Given the description of an element on the screen output the (x, y) to click on. 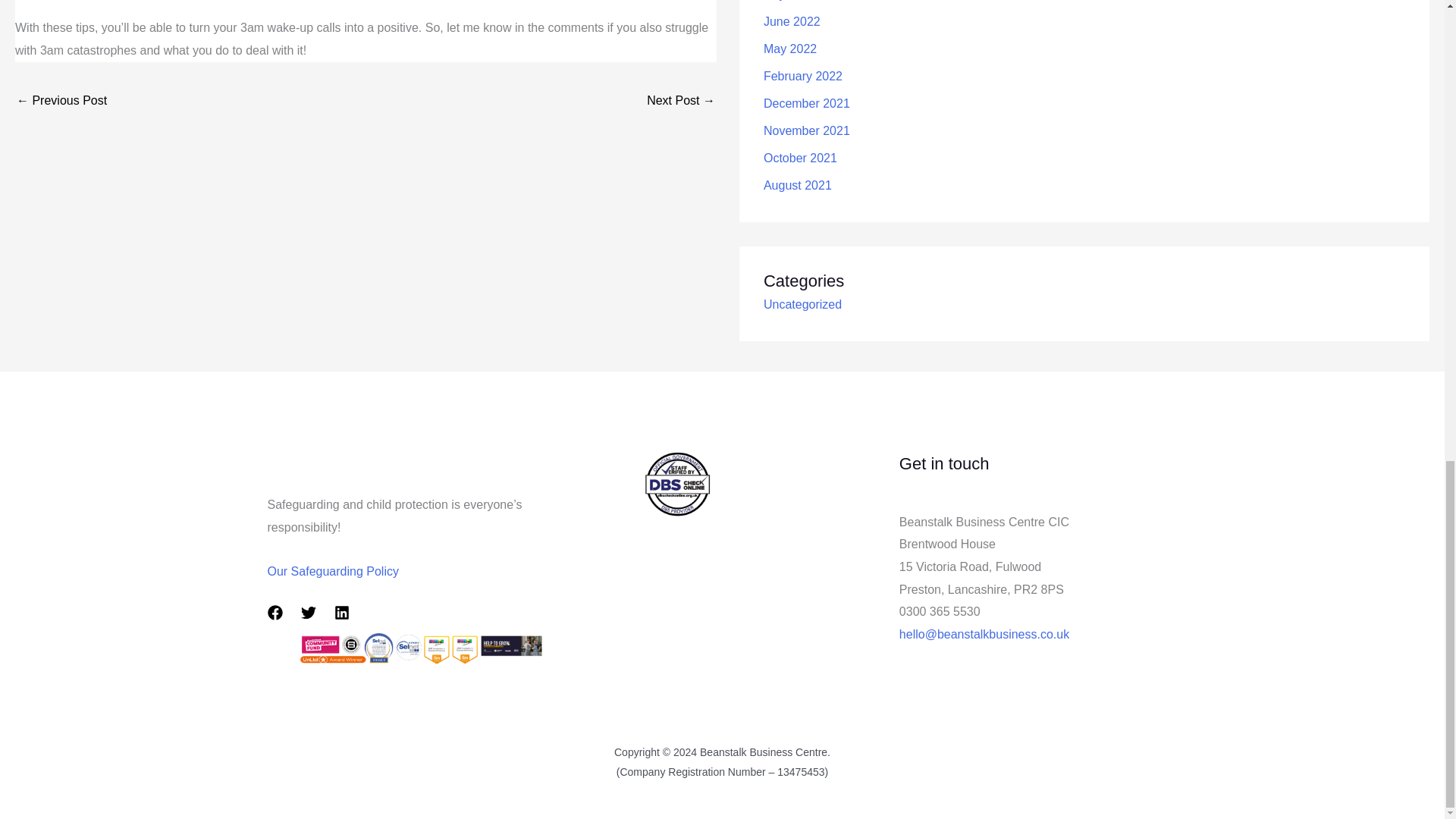
Apprenticeships: Finding your future! (680, 101)
